Given the description of an element on the screen output the (x, y) to click on. 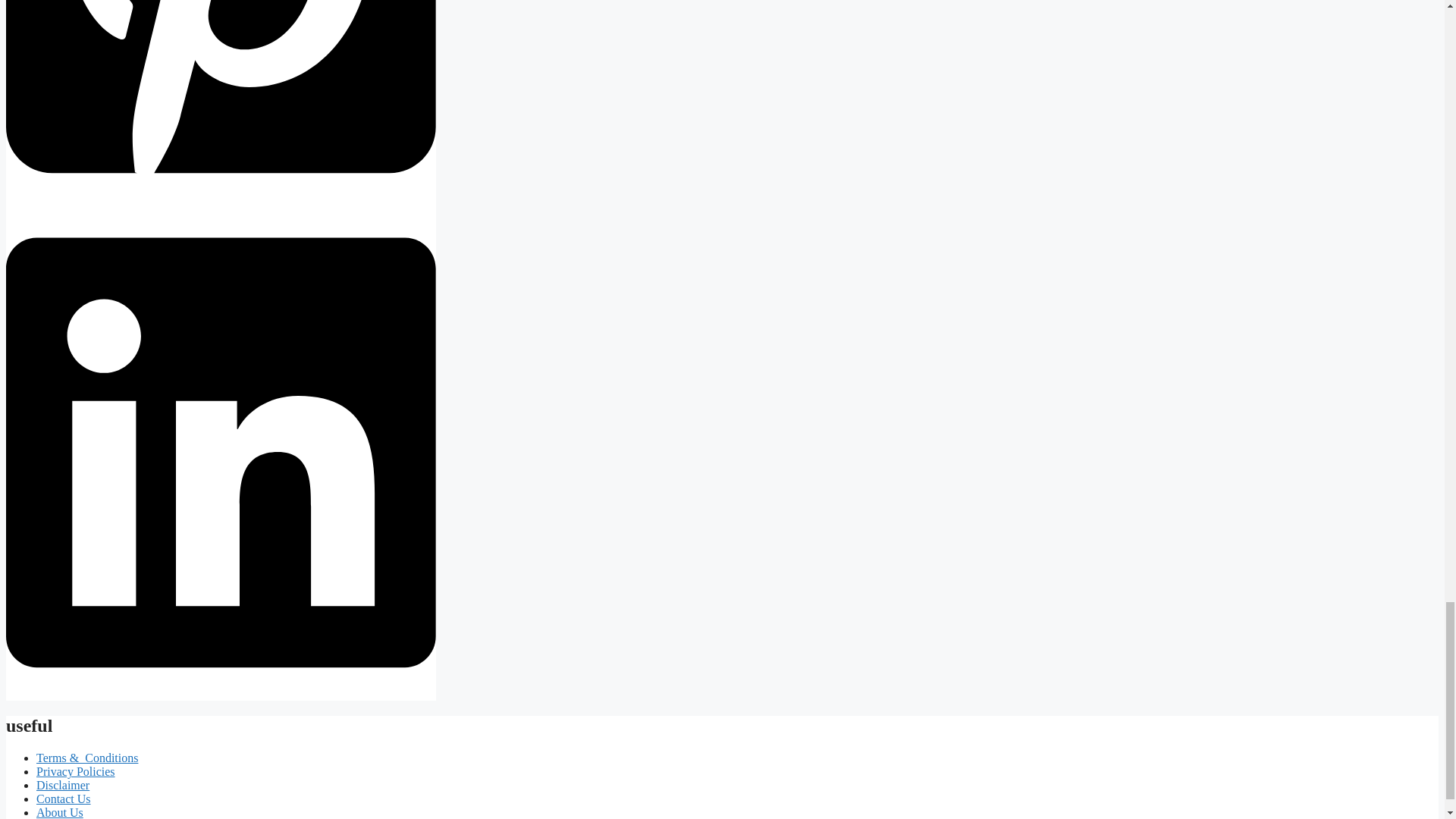
Disclaimer (62, 784)
Contact Us (63, 798)
About Us (59, 812)
Privacy Policies (75, 771)
